Given the description of an element on the screen output the (x, y) to click on. 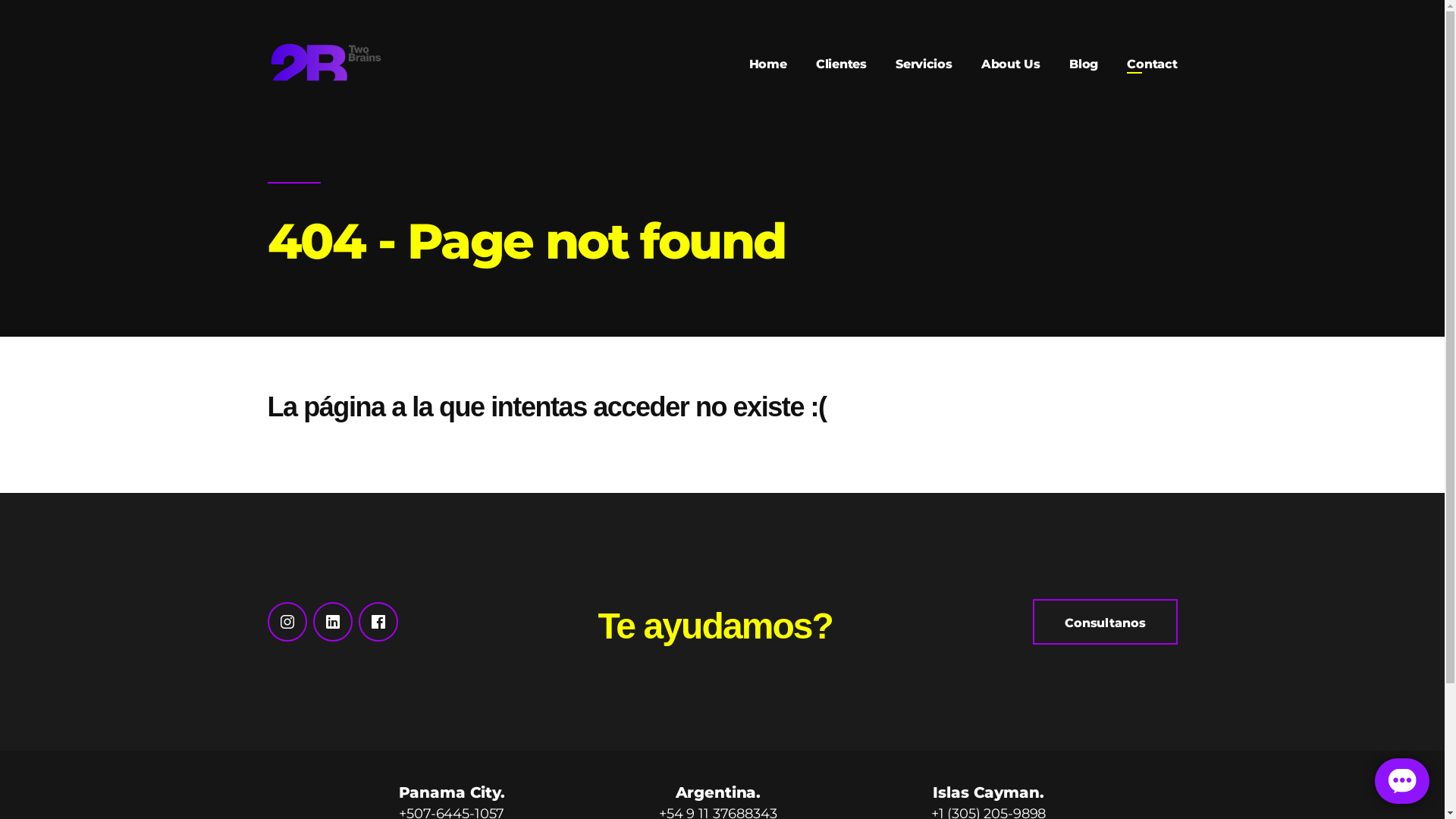
About Us Element type: text (1010, 63)
Clientes Element type: text (840, 63)
Servicios Element type: text (923, 63)
Consultanos Element type: text (1104, 621)
Home Element type: text (768, 63)
Contact Element type: text (1151, 63)
Blog Element type: text (1083, 63)
